Given the description of an element on the screen output the (x, y) to click on. 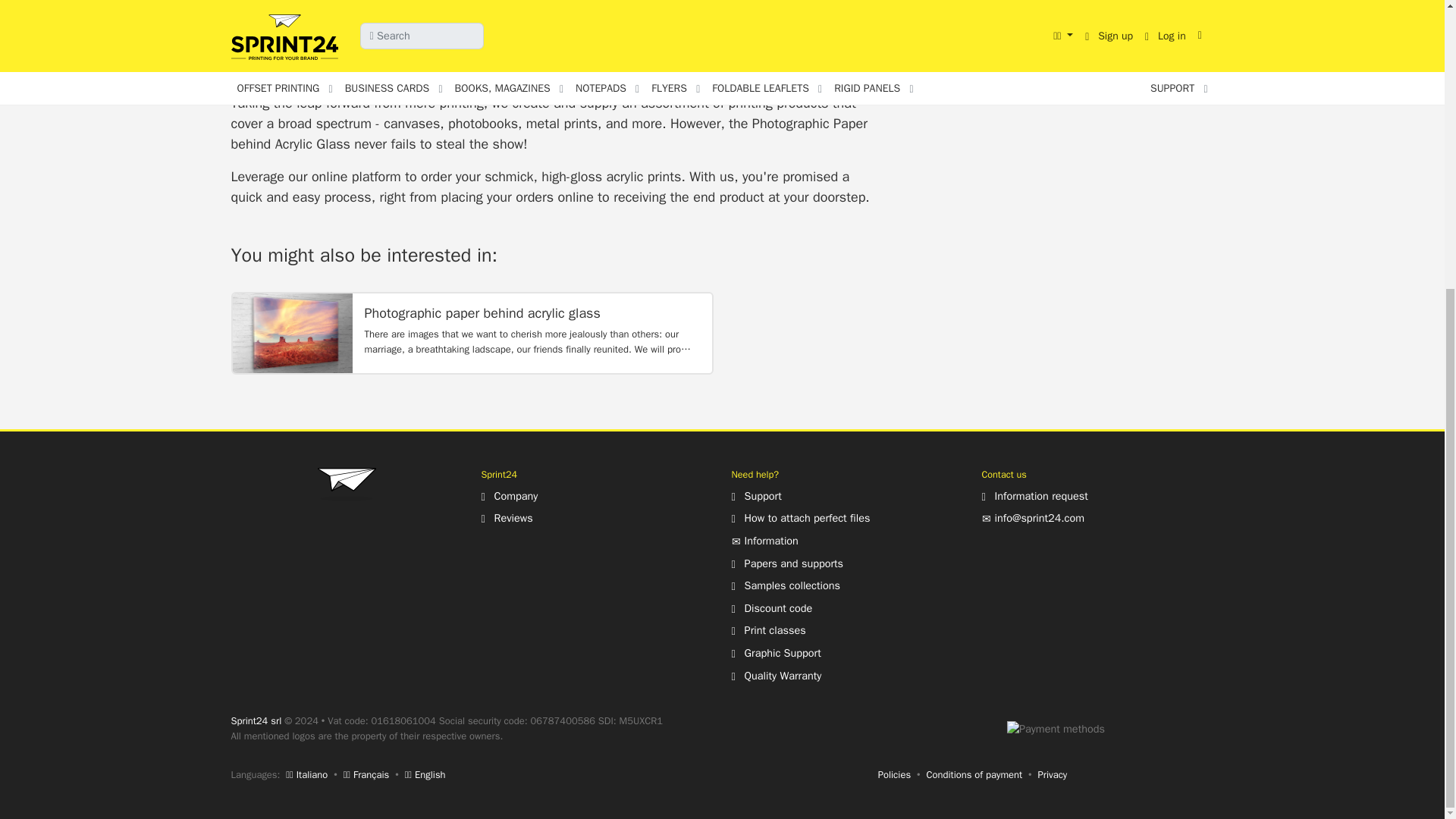
Support (755, 495)
Quality Warranty (775, 675)
How to attach perfect files (799, 517)
Photographic paper behind acrylic glass (291, 333)
Samples collections (785, 585)
Graphic Support (775, 653)
Discount Code: Printing Custom Online UK (771, 608)
Information (763, 540)
Papers and supports (786, 563)
Print classes (767, 630)
